Given the description of an element on the screen output the (x, y) to click on. 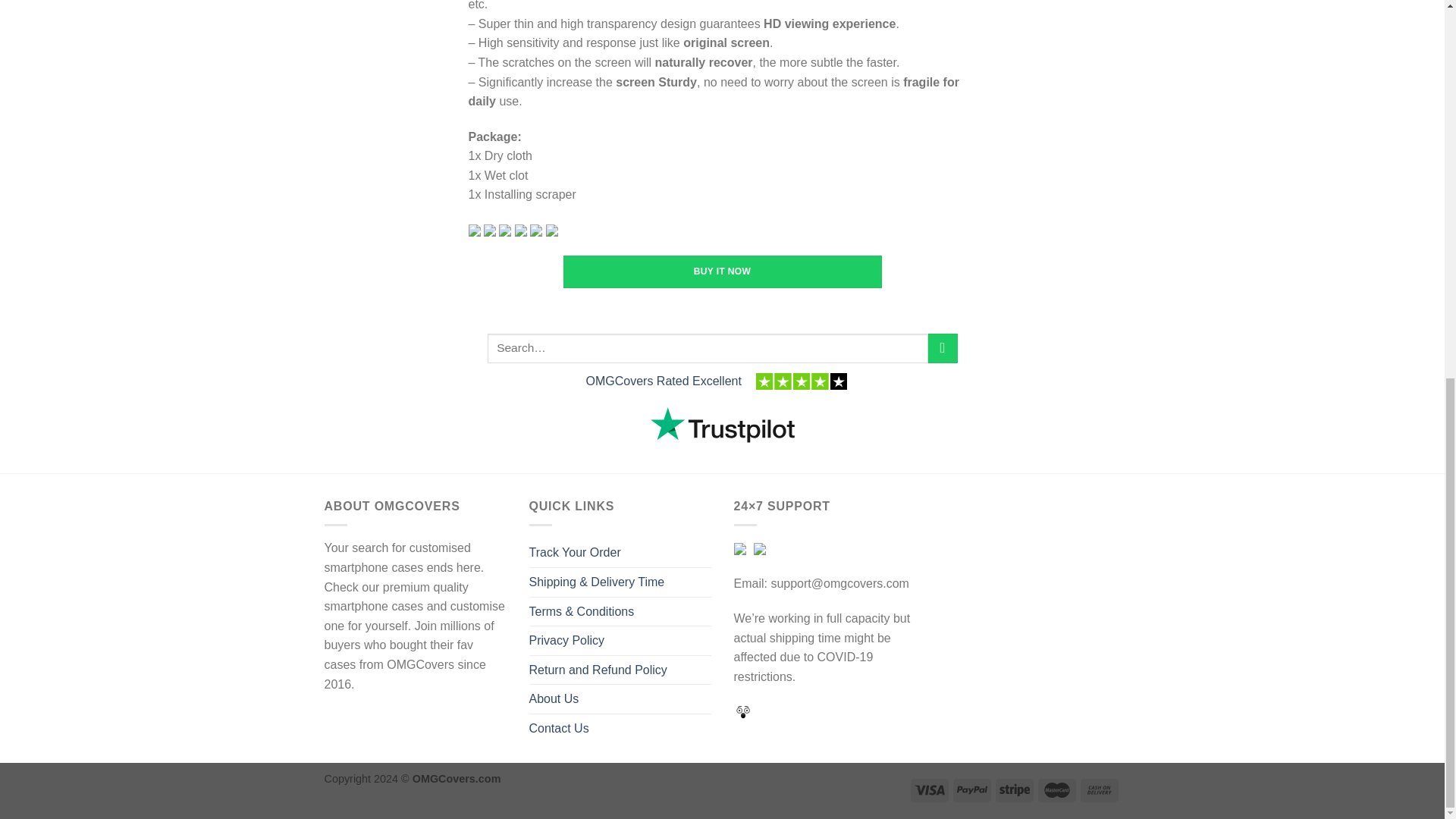
Search (943, 348)
OMGCovers Rated Excellent (663, 381)
Contact Us (559, 728)
About Us (554, 698)
Return and Refund Policy (597, 670)
Track Your Order (575, 552)
Privacy Policy (567, 640)
BUY IT NOW (721, 271)
